Given the description of an element on the screen output the (x, y) to click on. 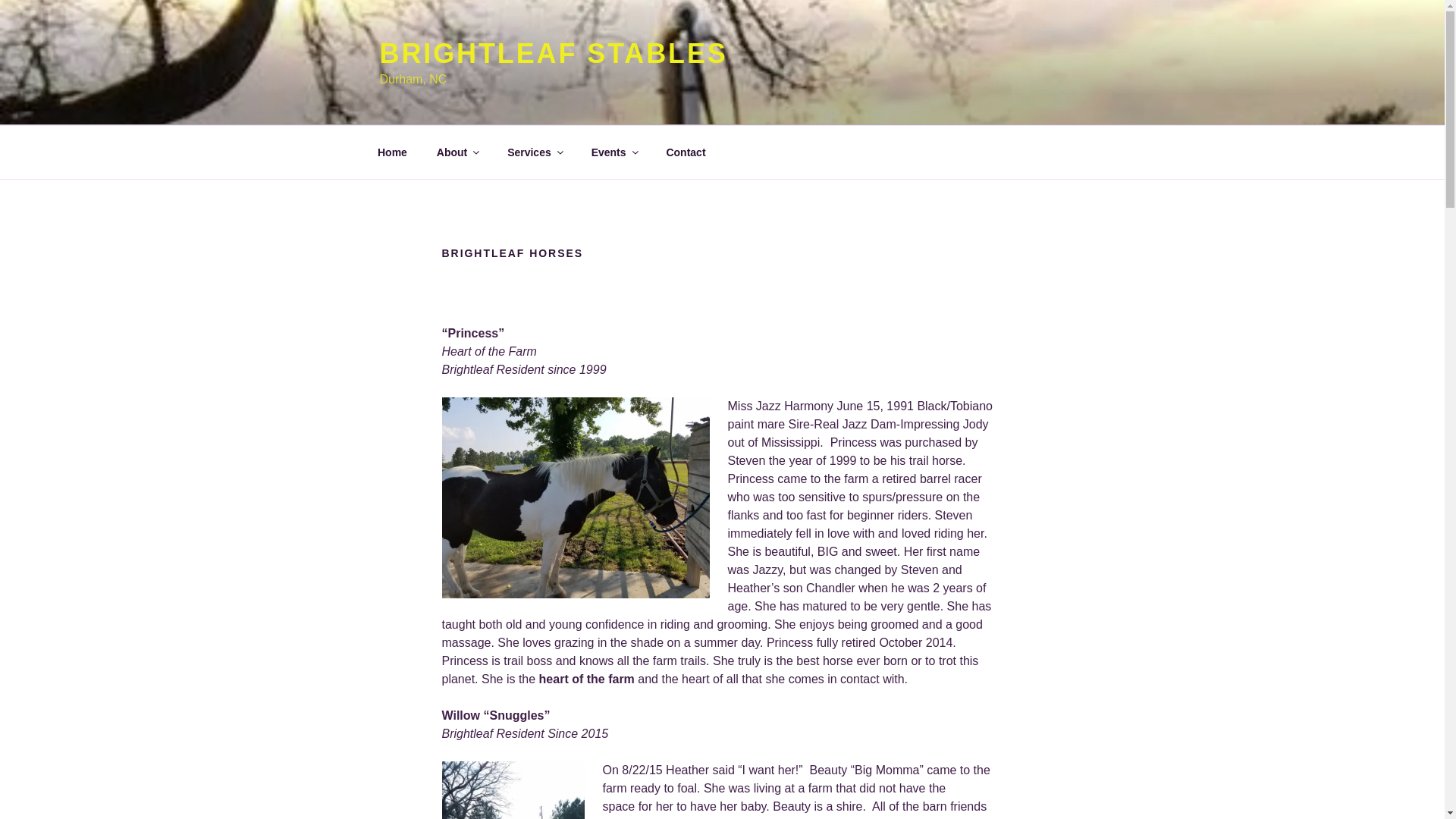
Contact (685, 151)
About (456, 151)
BRIGHTLEAF STABLES (552, 52)
Services (535, 151)
Events (613, 151)
Home (392, 151)
